Given the description of an element on the screen output the (x, y) to click on. 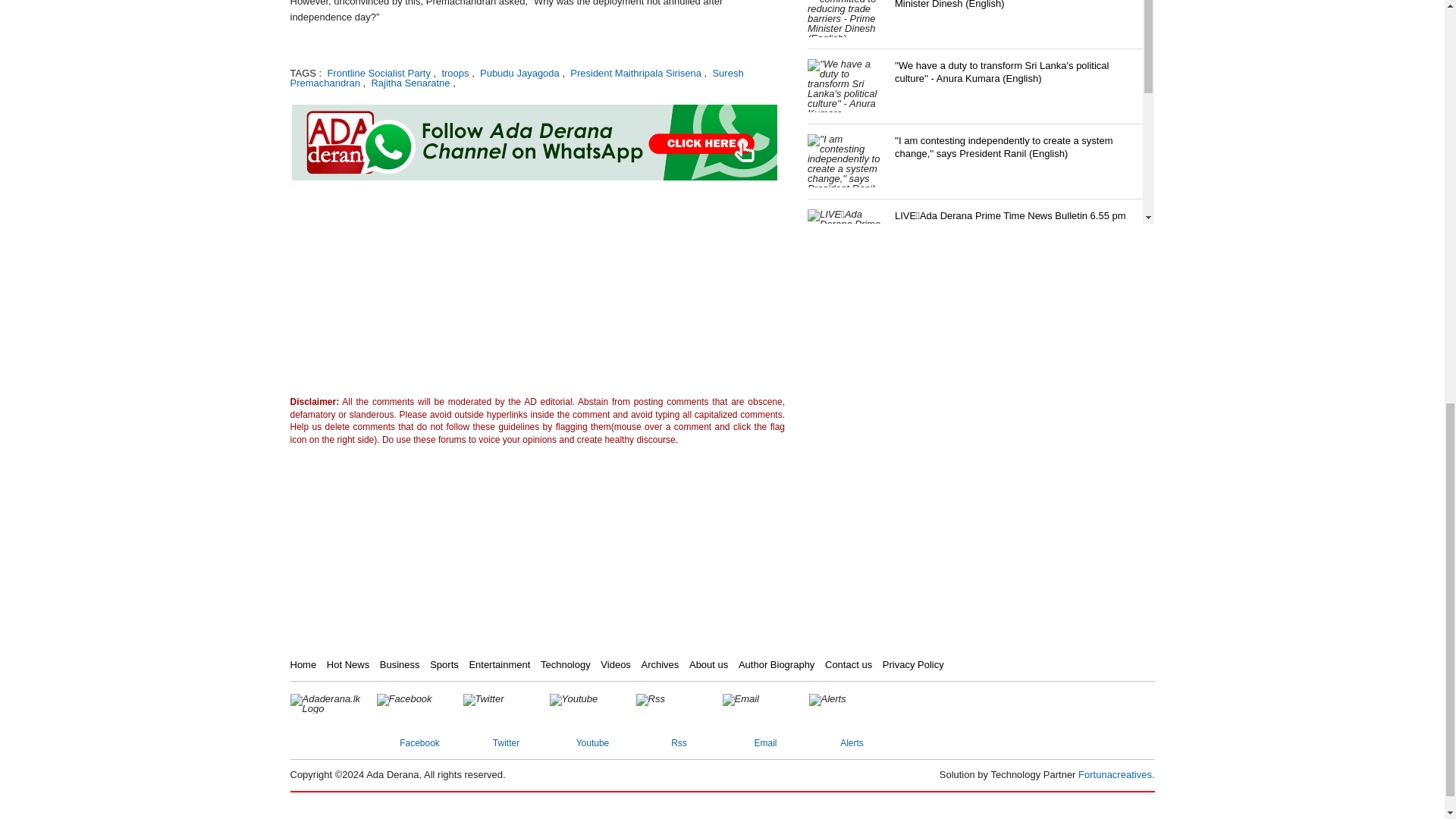
 President Maithripala Sirisena (634, 72)
 Pubudu Jayagoda (518, 72)
 Frontline Socialist Party (377, 72)
 Rajitha Senaratne (408, 82)
 troops (453, 72)
 Suresh Premachandran (515, 77)
